Given the description of an element on the screen output the (x, y) to click on. 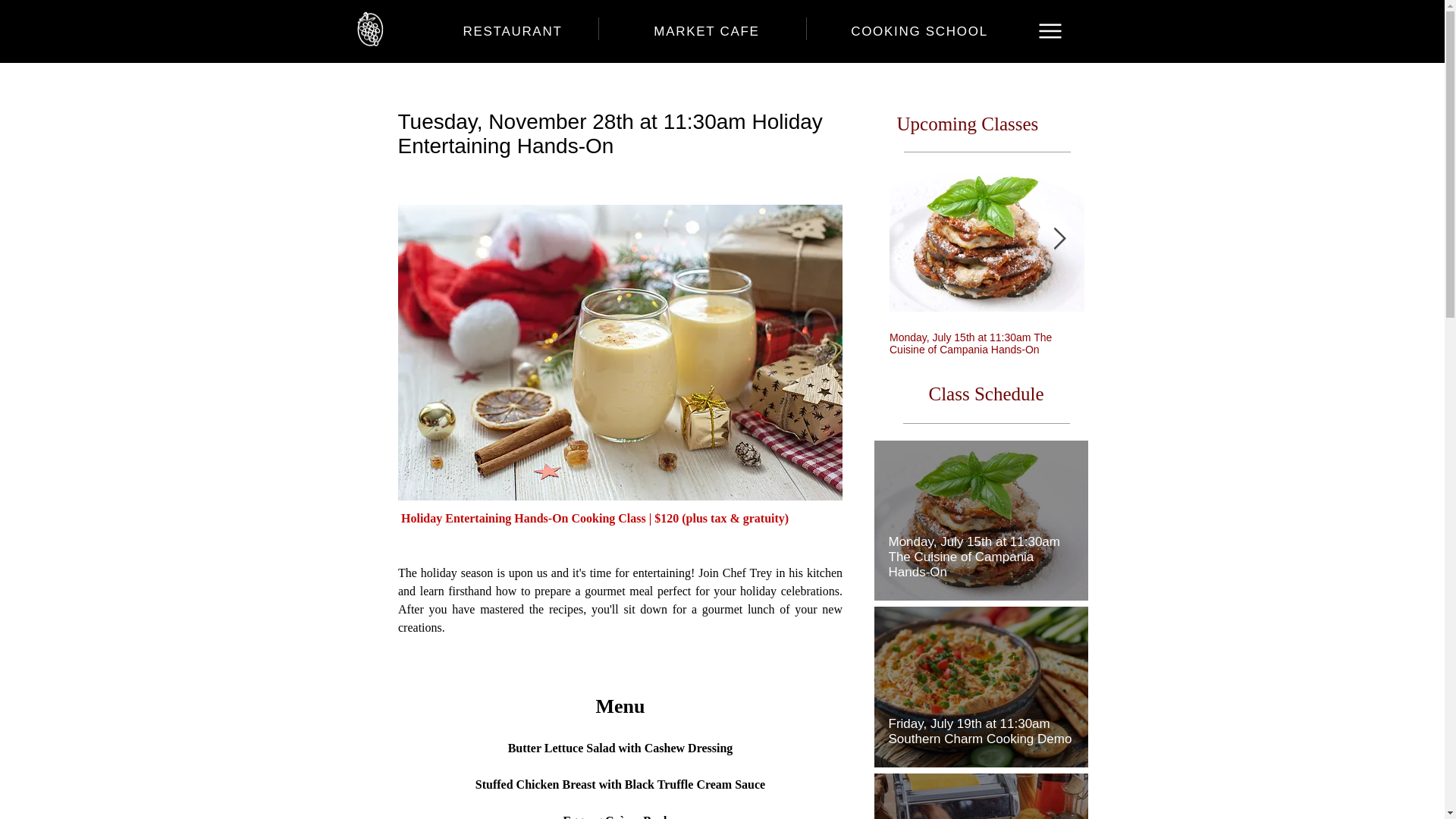
Friday, July 19th at 11:30am Southern Charm Cooking Demo (981, 724)
COOKING SCHOOL (919, 31)
RESTAURANT (512, 31)
MARKET CAFE (705, 31)
Friday, July 19th at 11:30am Southern Charm Cooking Demo (1181, 343)
